Given the description of an element on the screen output the (x, y) to click on. 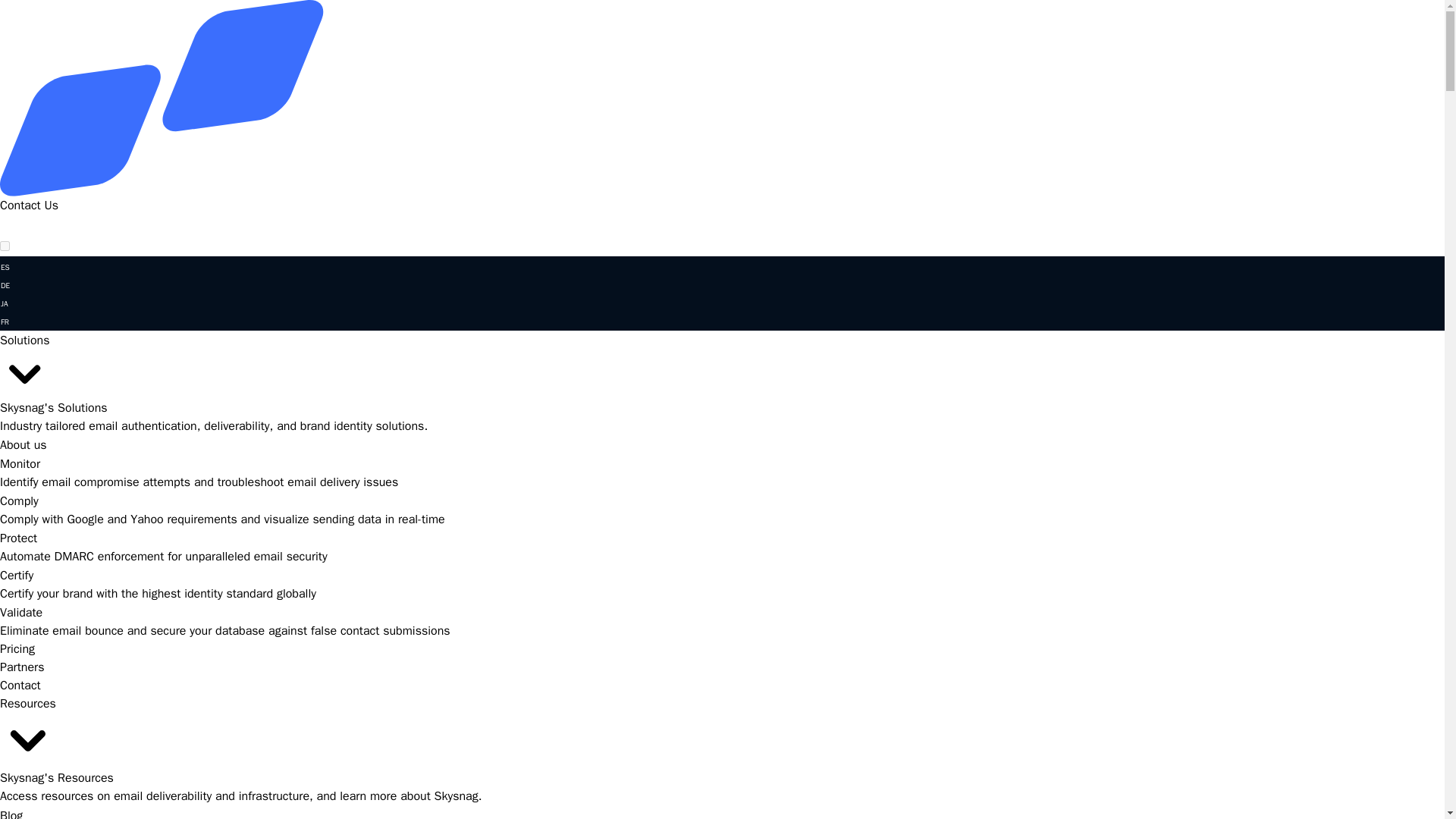
DE (5, 285)
on (5, 245)
Partners (21, 667)
About us (23, 444)
Contact Us (29, 205)
Pricing (17, 648)
Contact (20, 685)
ES (5, 266)
Language switcher : Spanish (5, 266)
Language switcher : German (5, 285)
